Given the description of an element on the screen output the (x, y) to click on. 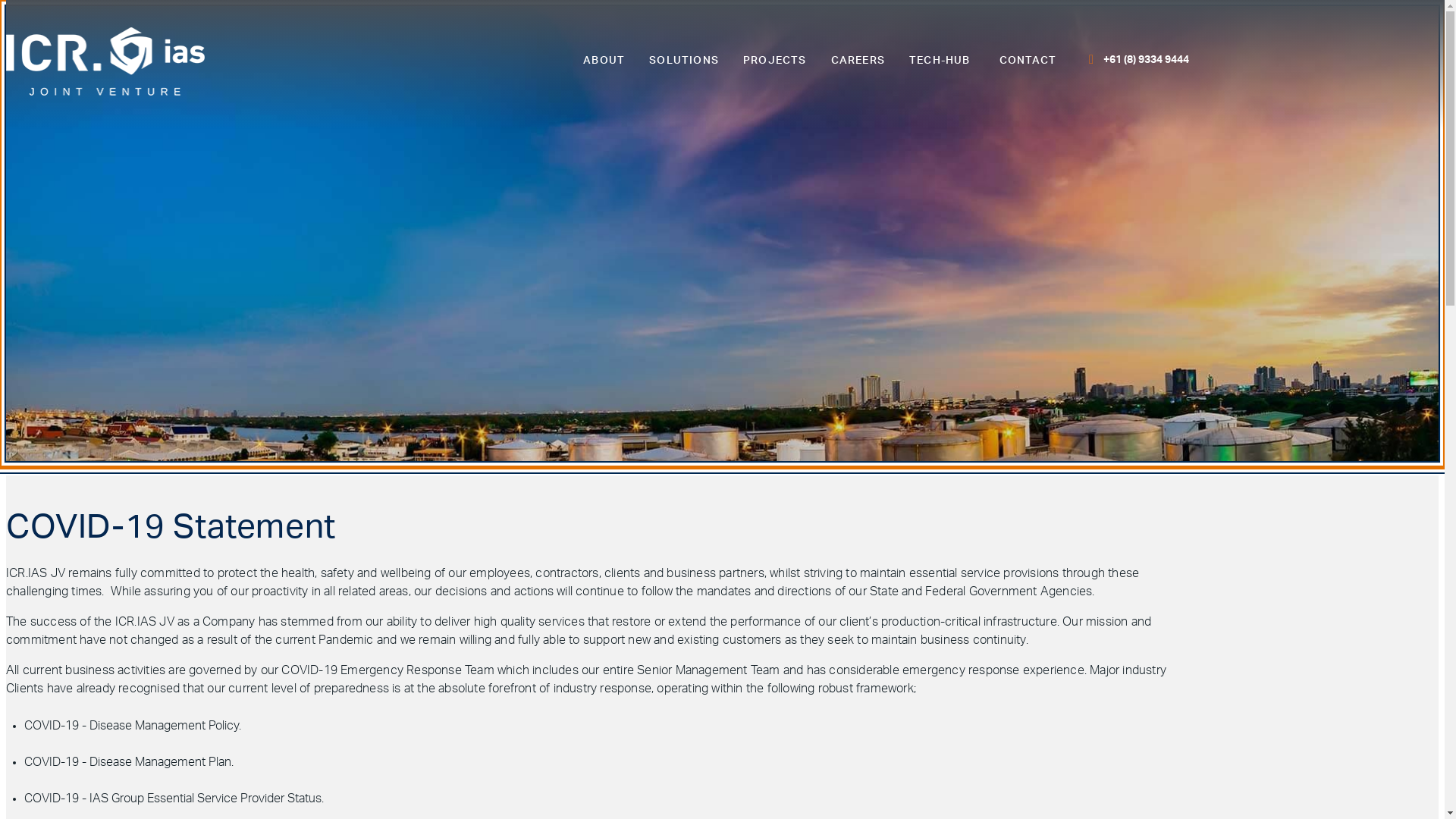
CAREERS Element type: text (858, 60)
ABOUT Element type: text (603, 60)
+61 (8) 9334 9444 Element type: text (1146, 59)
SOLUTIONS Element type: text (683, 60)
CONTACT Element type: text (1027, 60)
TECH-HUB Element type: text (939, 60)
PROJECTS Element type: text (774, 60)
